Given the description of an element on the screen output the (x, y) to click on. 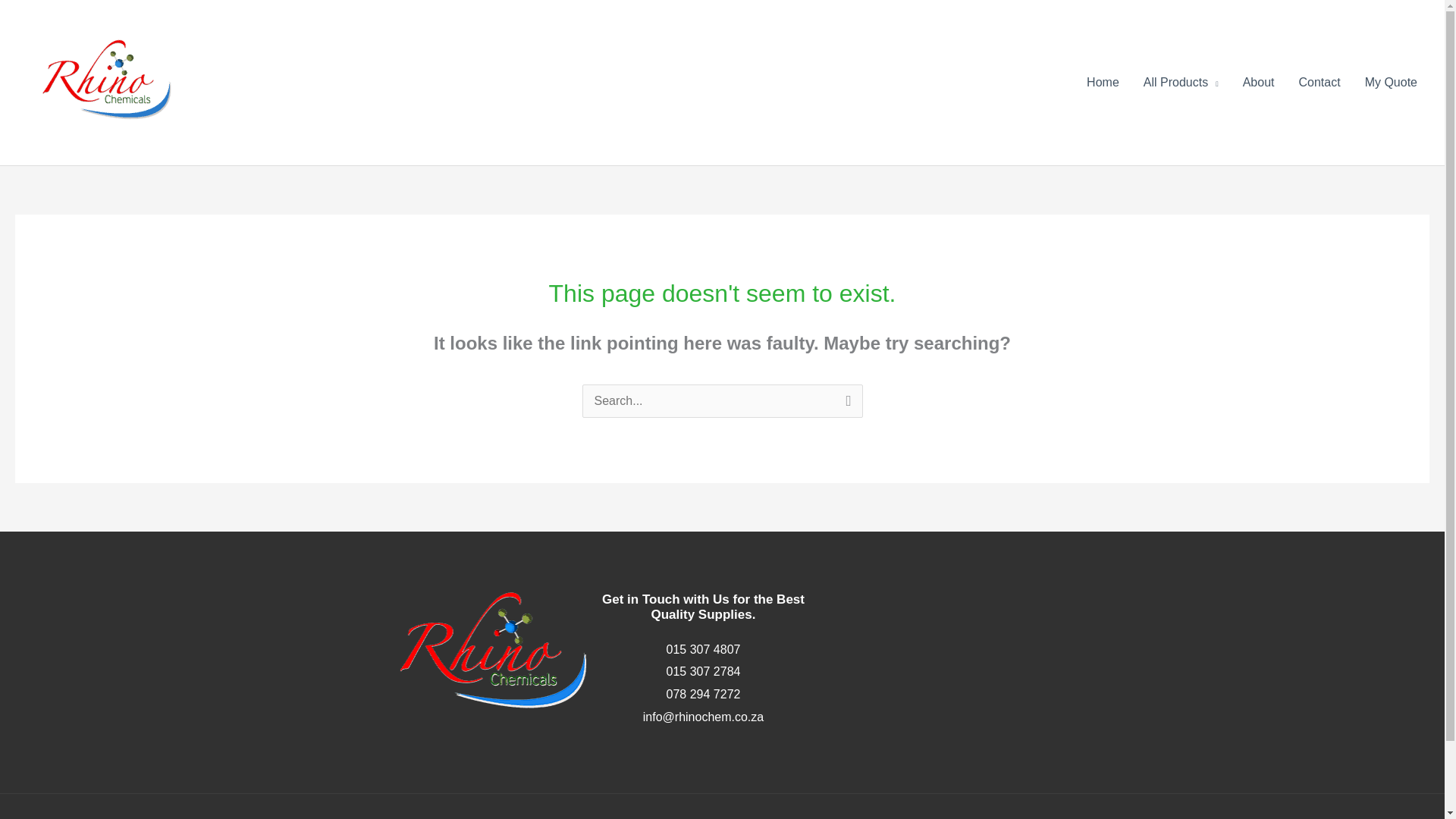
About (1258, 82)
All Products (1180, 82)
Home (1102, 82)
Contact (1318, 82)
19 Plantation Rd, Tzaneen (963, 655)
My Quote (1390, 82)
